Given the description of an element on the screen output the (x, y) to click on. 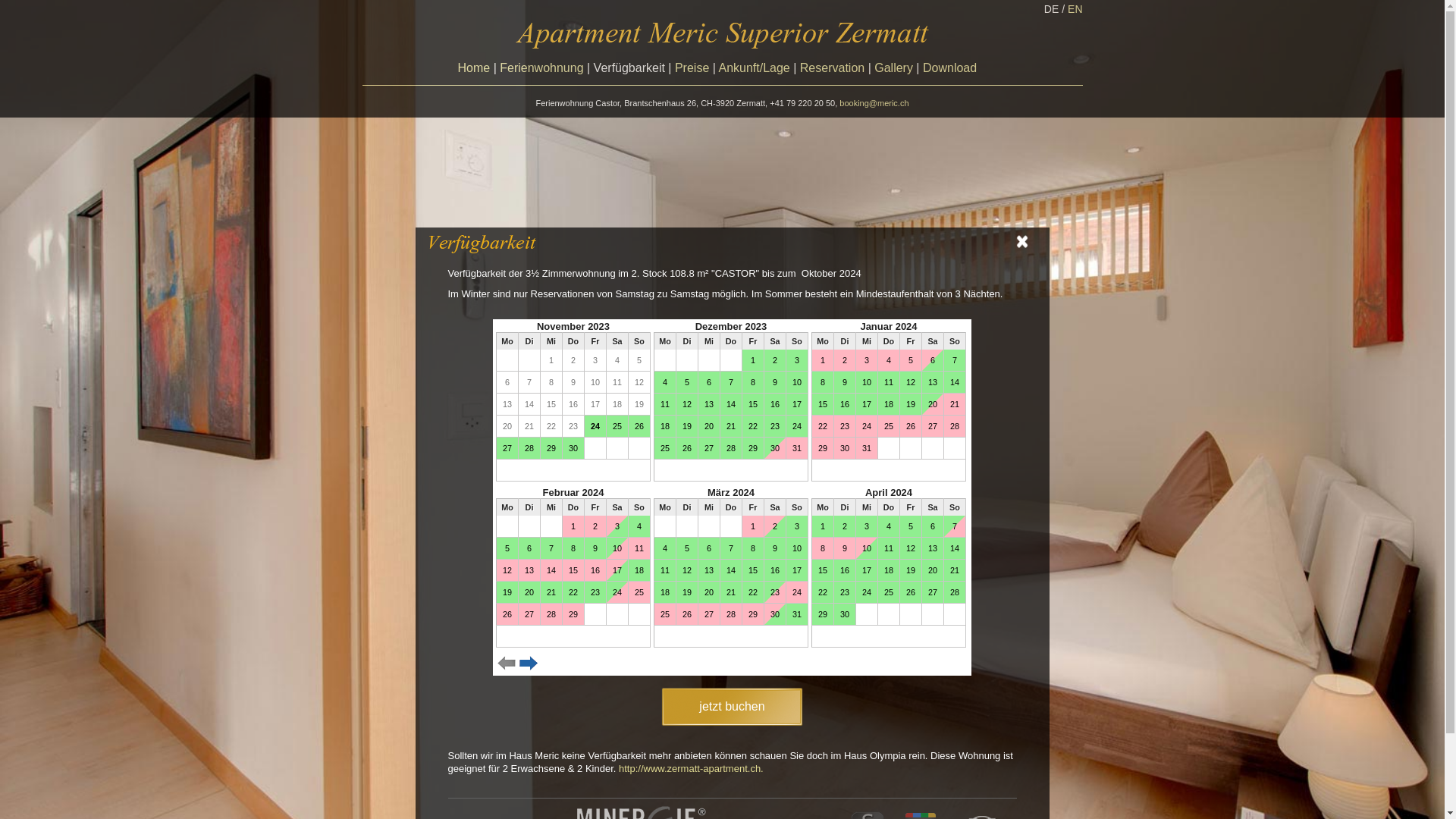
Download Element type: text (949, 67)
Ankunft/Lage Element type: text (753, 67)
jetzt buchen Element type: text (731, 705)
Gallery Element type: text (893, 67)
Preise Element type: text (691, 67)
booking@meric.ch Element type: text (873, 102)
http://www.zermatt-apartment.ch. Element type: text (690, 768)
Home Element type: text (474, 67)
Reservation Element type: text (832, 67)
EN Element type: text (1074, 9)
DE Element type: text (1051, 8)
Ferienwohnung Element type: text (541, 67)
